Given the description of an element on the screen output the (x, y) to click on. 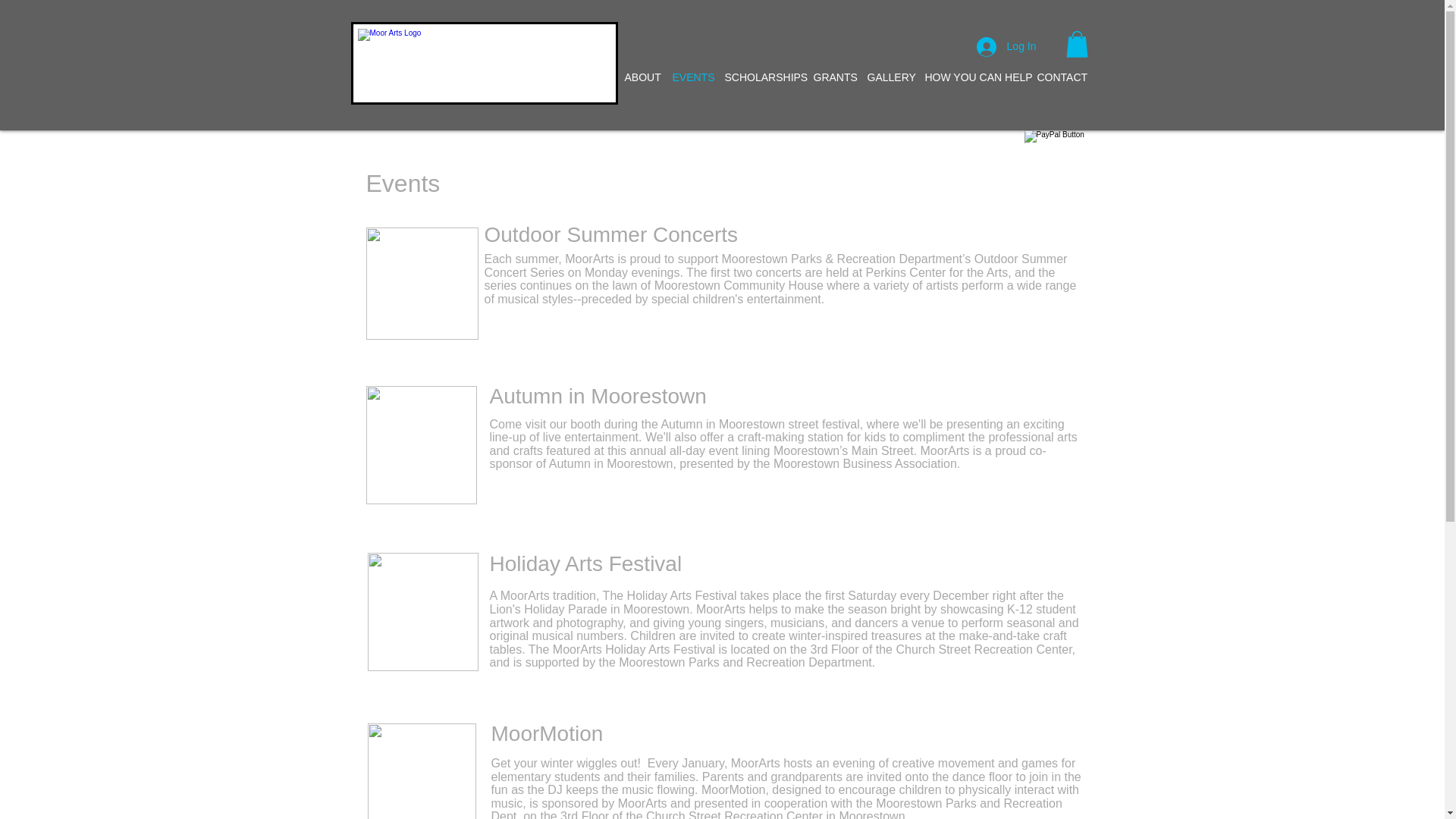
HOW YOU CAN HELP (973, 77)
DSC00495.JPG (421, 771)
Moor Arts (483, 63)
GRANTS (832, 77)
SCHOLARSHIPS (761, 77)
Log In (1006, 46)
GALLERY (888, 77)
EVENTS (689, 77)
COVID Info (582, 77)
CONTACT (1059, 77)
